Given the description of an element on the screen output the (x, y) to click on. 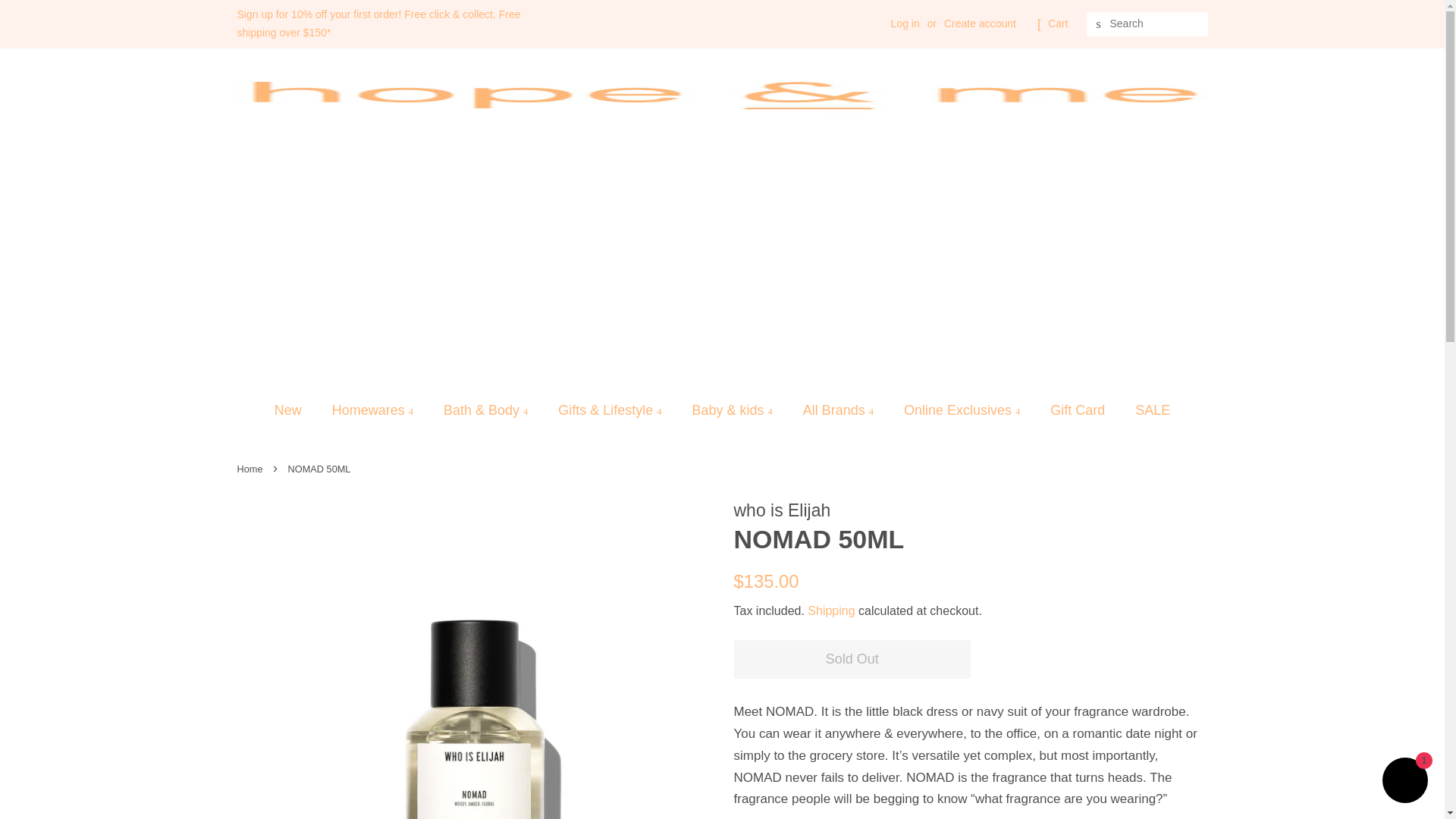
Back to the frontpage (250, 469)
Log in (905, 23)
Create account (979, 23)
Cart (1057, 24)
Search (1097, 24)
Shopify online store chat (1404, 781)
